Given the description of an element on the screen output the (x, y) to click on. 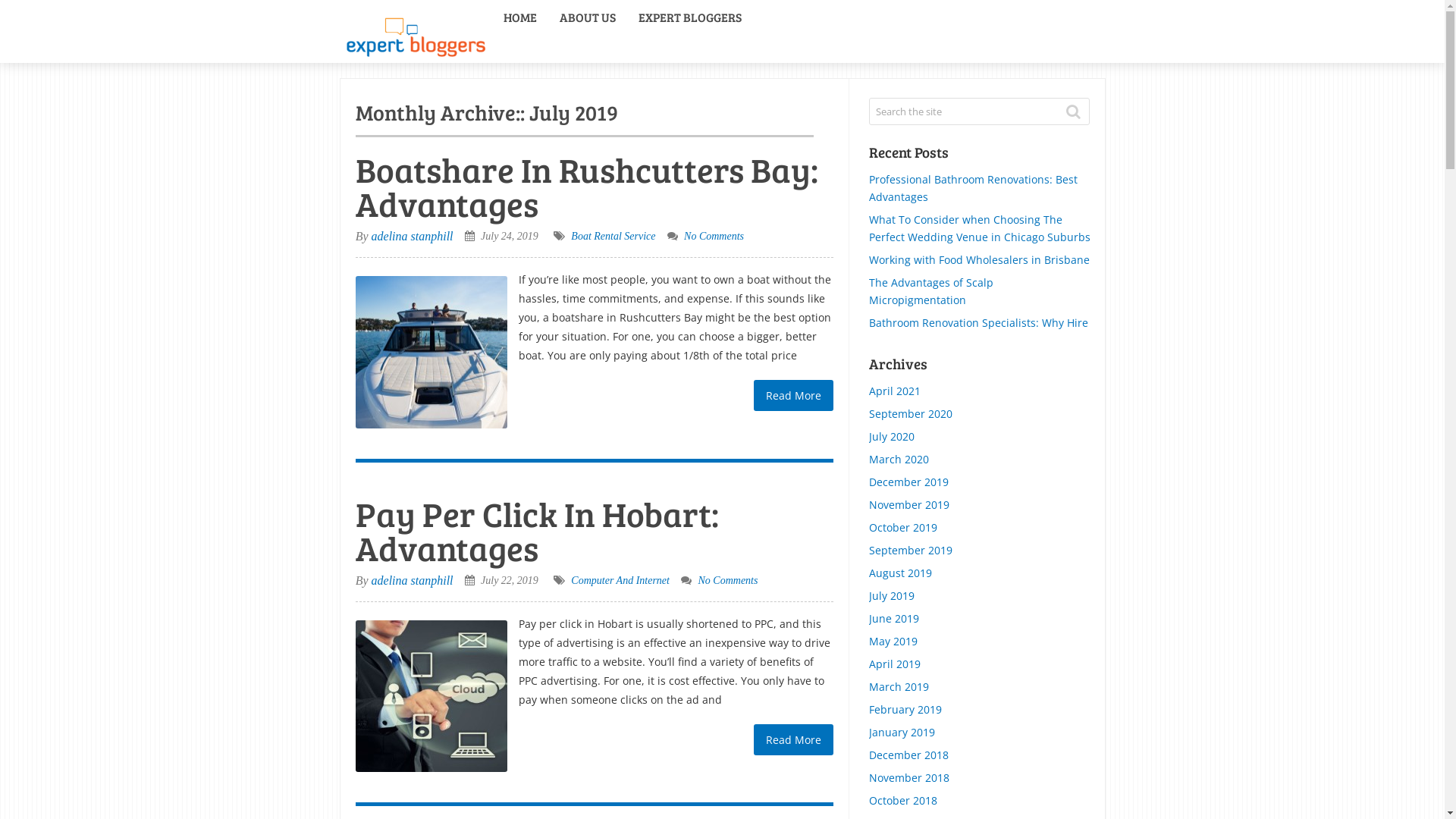
No Comments Element type: text (713, 235)
Computer And Internet Element type: text (620, 580)
March 2019 Element type: text (898, 686)
Working with Food Wholesalers in Brisbane Element type: text (979, 259)
Boatshare In Rushcutters Bay: Advantages Element type: hover (431, 351)
October 2018 Element type: text (903, 800)
The Advantages of Scalp Micropigmentation Element type: text (931, 291)
Boat Rental Service Element type: text (613, 235)
June 2019 Element type: text (894, 618)
Professional Bathroom Renovations: Best Advantages Element type: text (973, 187)
September 2020 Element type: text (910, 413)
January 2019 Element type: text (902, 731)
November 2019 Element type: text (909, 504)
August 2019 Element type: text (900, 572)
ABOUT US Element type: text (586, 17)
March 2020 Element type: text (898, 458)
July 2019 Element type: text (891, 595)
July 2020 Element type: text (891, 436)
October 2019 Element type: text (903, 527)
Read More Element type: text (793, 395)
Boatshare In Rushcutters Bay: Advantages Element type: text (586, 186)
adelina stanphill Element type: text (412, 580)
adelina stanphill Element type: text (412, 235)
December 2018 Element type: text (908, 754)
September 2019 Element type: text (910, 549)
Read More Element type: text (793, 739)
April 2021 Element type: text (894, 390)
November 2018 Element type: text (909, 777)
May 2019 Element type: text (893, 640)
Pay Per Click In Hobart: Advantages Element type: hover (431, 695)
Bathroom Renovation Specialists: Why Hire Element type: text (978, 322)
HOME Element type: text (519, 17)
December 2019 Element type: text (908, 481)
EXPERT BLOGGERS Element type: text (689, 17)
April 2019 Element type: text (894, 663)
Pay Per Click In Hobart: Advantages Element type: text (536, 530)
No Comments Element type: text (727, 580)
February 2019 Element type: text (905, 709)
